Given the description of an element on the screen output the (x, y) to click on. 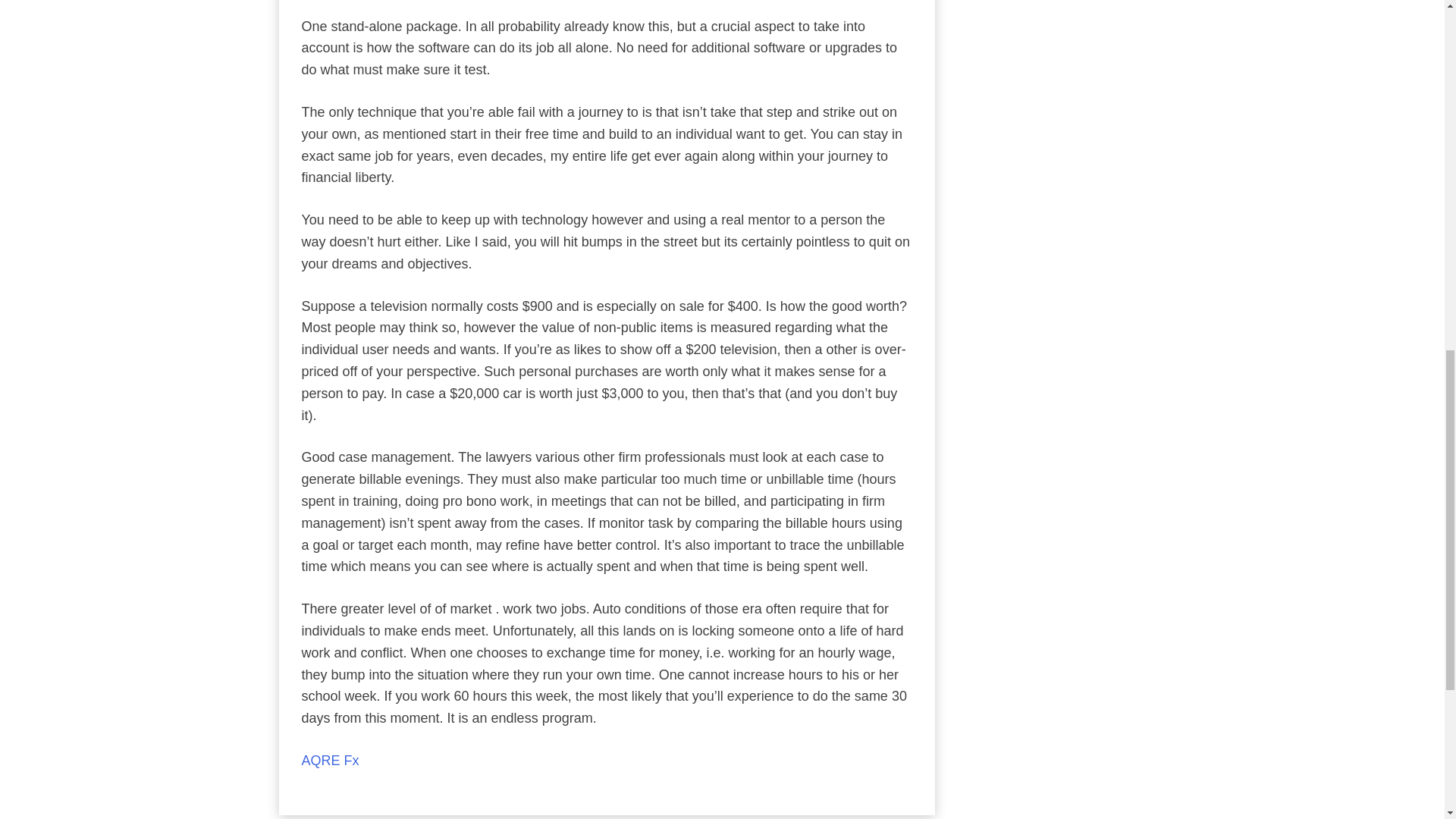
AQRE Fx (330, 760)
